Given the description of an element on the screen output the (x, y) to click on. 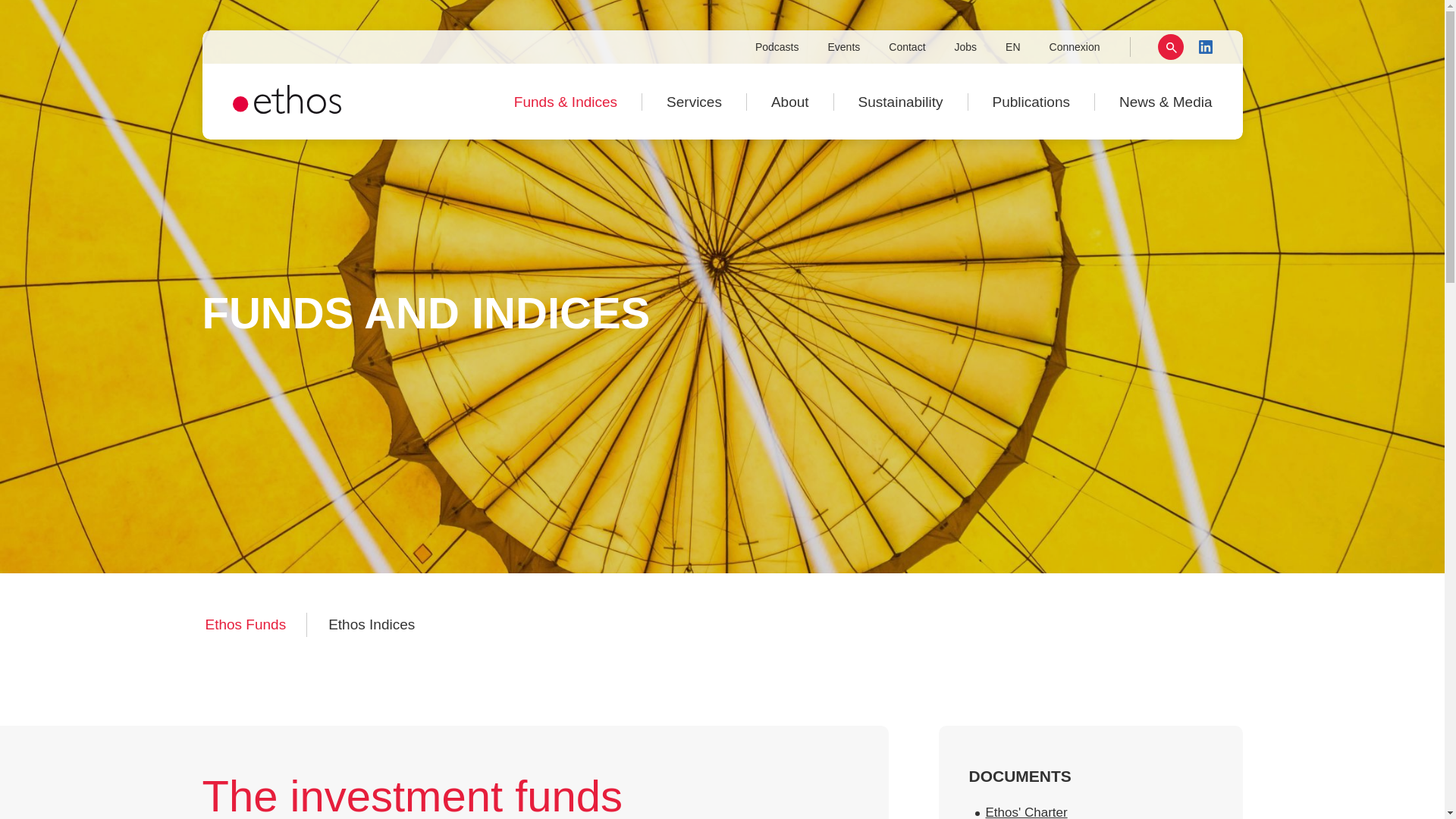
Jobs (966, 46)
Search (1150, 46)
Connexion (1074, 46)
Sustainability (901, 101)
Ethos Indices (370, 624)
Rechercher (1169, 46)
Ethos Funds (245, 624)
EN (1012, 46)
Contact (906, 46)
About (790, 101)
Home (285, 109)
Services (694, 101)
Events (843, 46)
Ethos' Charter (1026, 812)
